Given the description of an element on the screen output the (x, y) to click on. 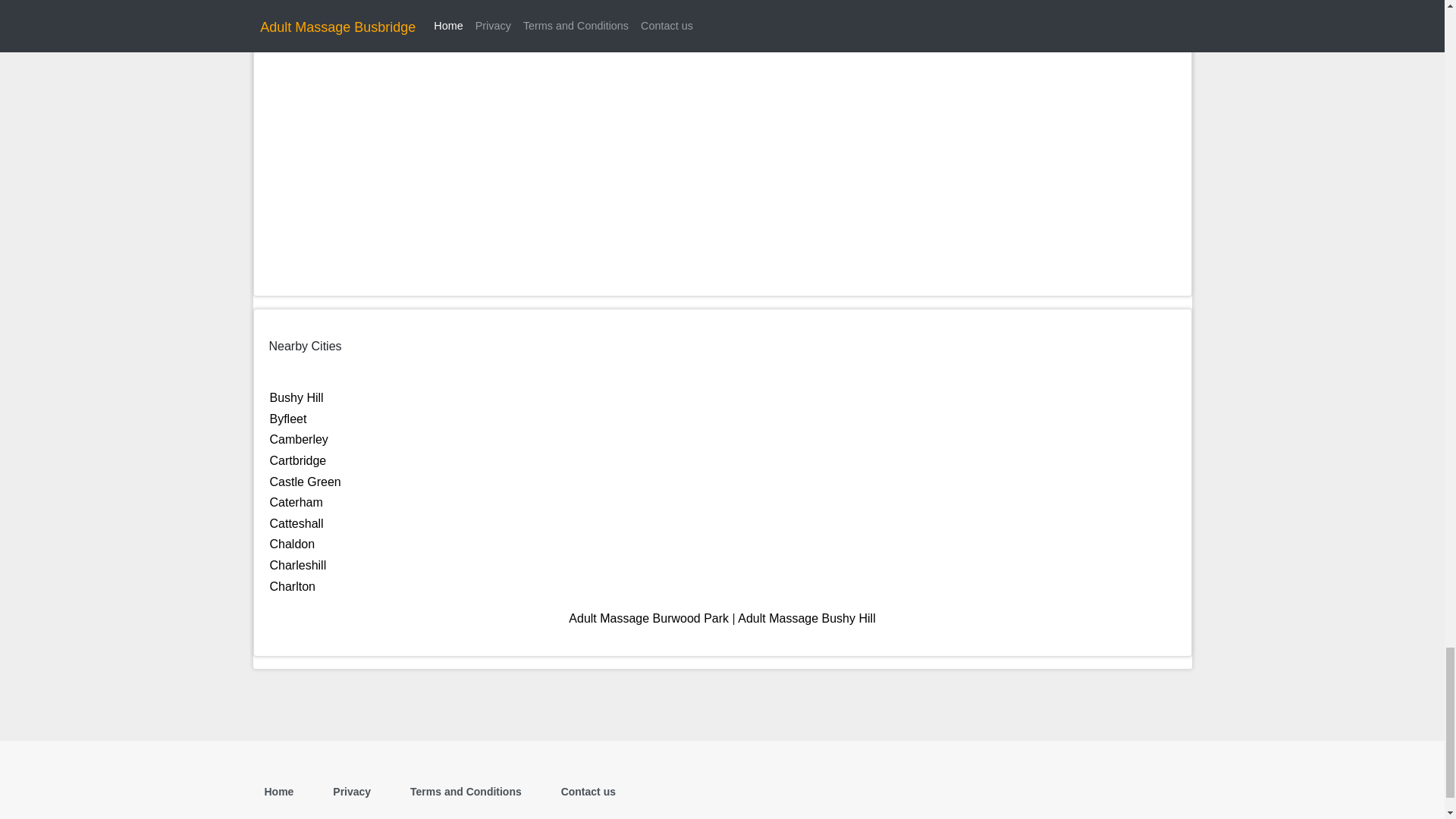
Bushy Hill (296, 397)
Charlton (292, 585)
Caterham (296, 502)
Cartbridge (297, 460)
Byfleet (288, 418)
Catteshall (296, 522)
Chaldon (292, 543)
Adult Massage Burwood Park (649, 617)
Charleshill (297, 564)
Adult Massage Bushy Hill (806, 617)
